Given the description of an element on the screen output the (x, y) to click on. 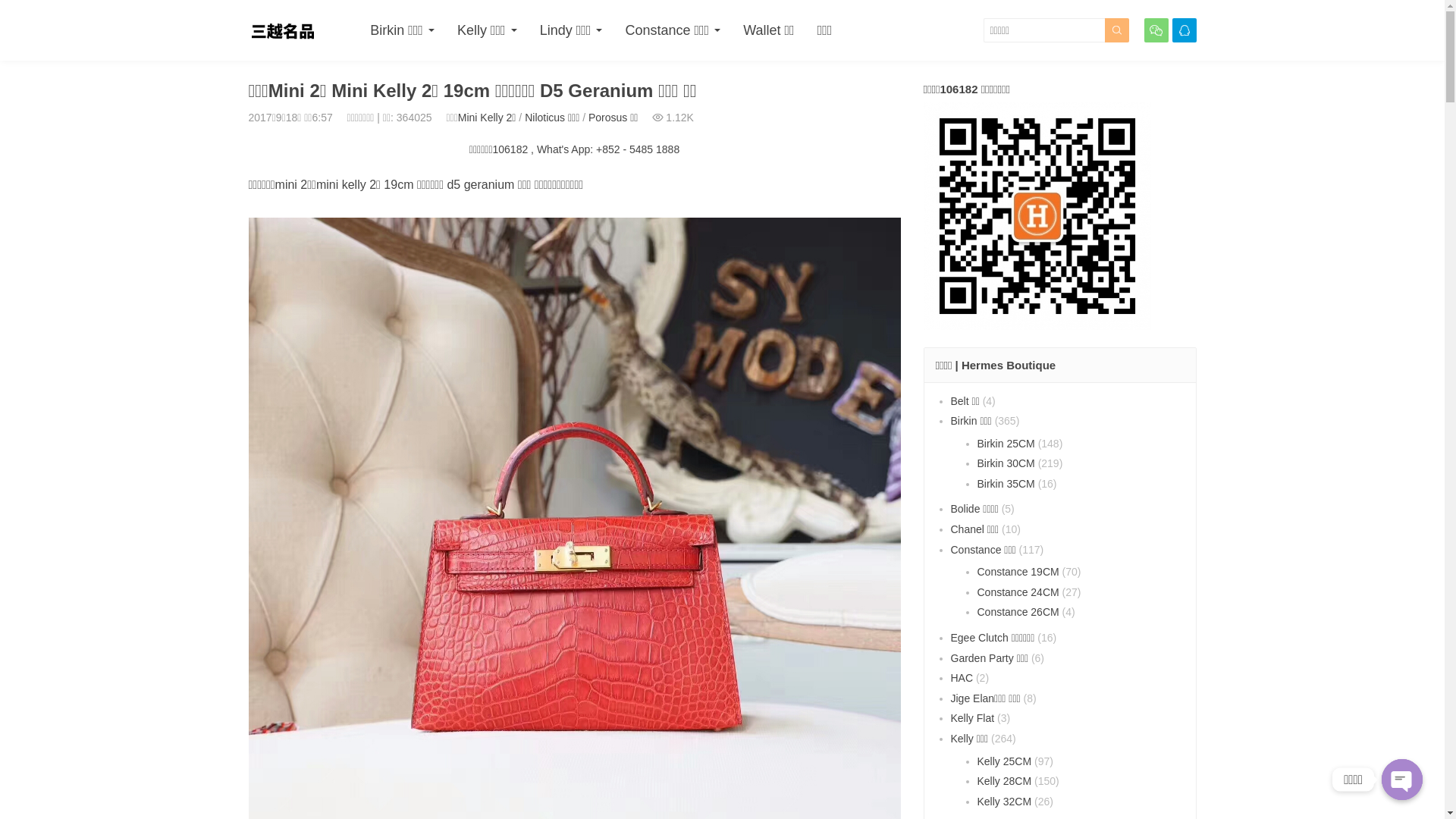
Kelly 32CM Element type: text (1003, 801)
Kelly 28CM Element type: text (1003, 781)
Constance 24CM Element type: text (1017, 592)
Birkin 35CM Element type: text (1005, 483)
Birkin 25CM Element type: text (1005, 443)
Constance 19CM Element type: text (1017, 571)
HAC Element type: text (961, 677)
Constance 26CM Element type: text (1017, 611)
Kelly Flat Element type: text (972, 718)
Birkin 30CM Element type: text (1005, 463)
Kelly 25CM Element type: text (1003, 761)
